Given the description of an element on the screen output the (x, y) to click on. 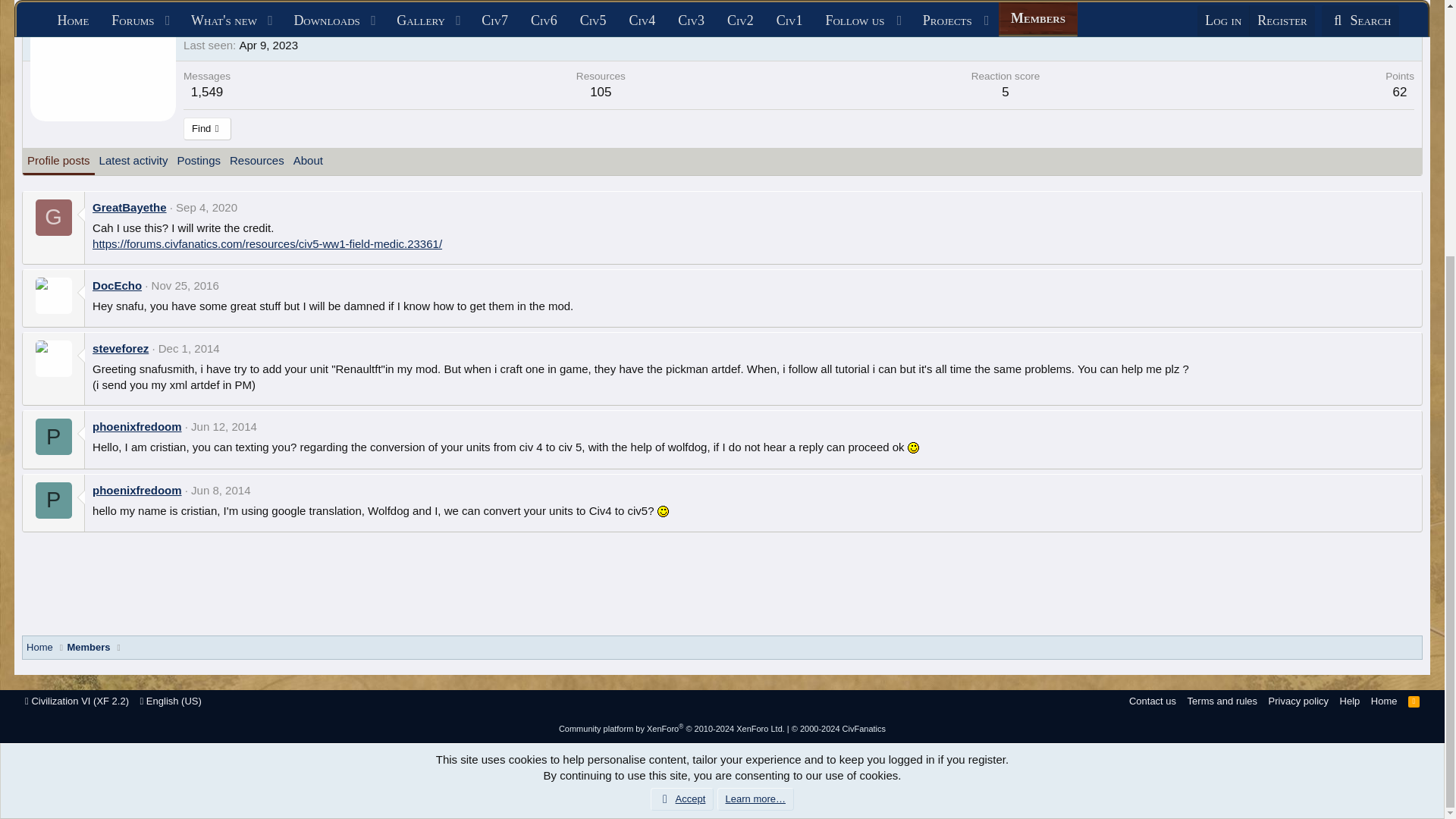
Dec 1, 2014 at 7:57 AM (188, 348)
Apr 9, 2023 at 7:26 PM (268, 44)
RSS (1413, 700)
Language chooser (169, 700)
Jun 8, 2014 at 3:25 AM (220, 490)
Sep 4, 2020 at 2:10 AM (206, 206)
Style chooser (76, 700)
Profile posts Latest activity Postings Resources About (175, 161)
Jun 12, 2014 at 3:50 PM (223, 426)
Trophy points (1399, 75)
